Given the description of an element on the screen output the (x, y) to click on. 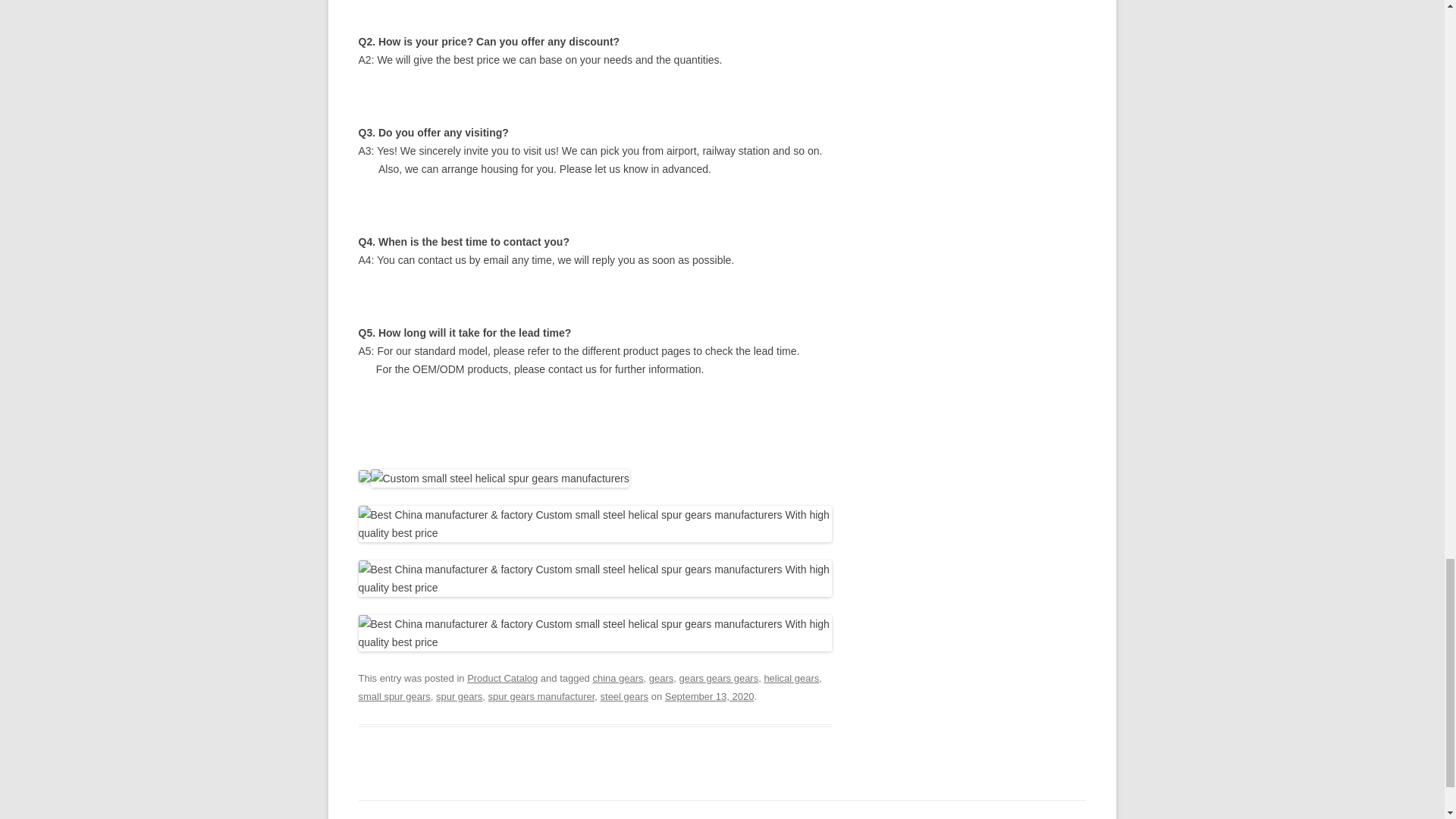
spur gears (458, 696)
September 13, 2020 (709, 696)
spur gears manufacturer (541, 696)
helical gears (790, 677)
small spur gears (393, 696)
5:49 am (709, 696)
gears (660, 677)
steel gears (624, 696)
Product Catalog (502, 677)
gears gears gears (718, 677)
